Given the description of an element on the screen output the (x, y) to click on. 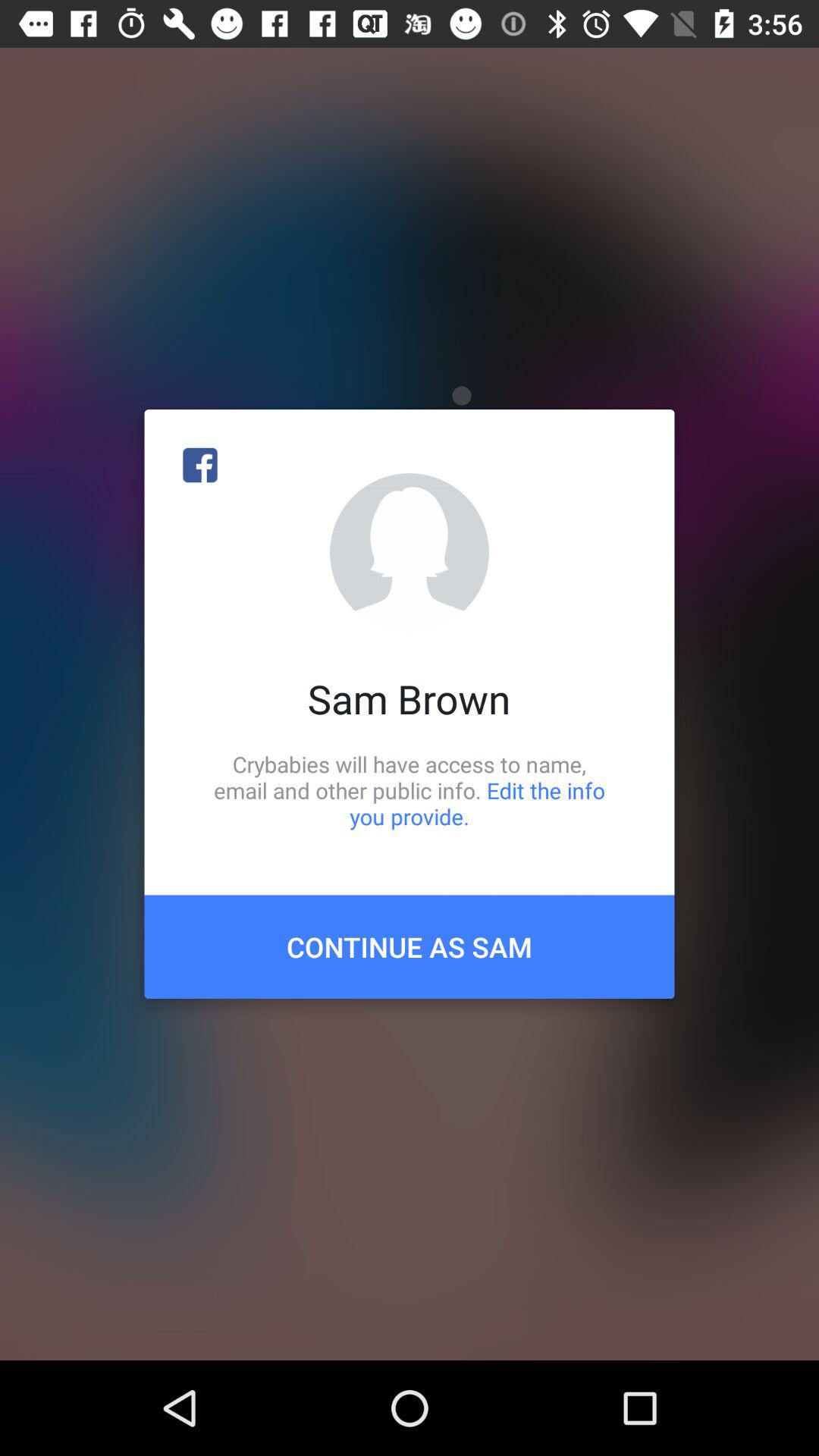
jump to crybabies will have (409, 790)
